Given the description of an element on the screen output the (x, y) to click on. 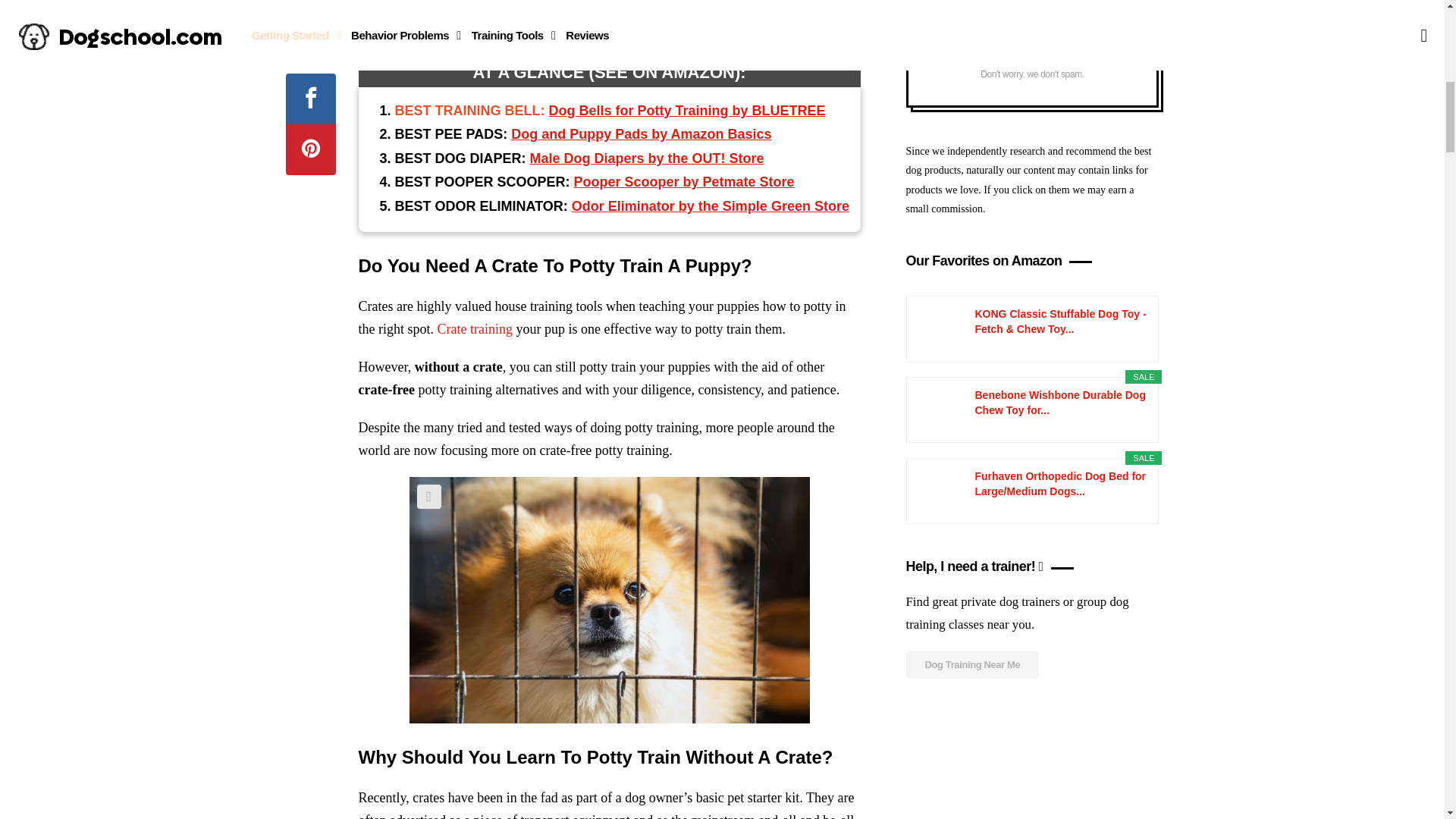
Dog Training Near Me (972, 664)
Sign up (1031, 49)
